Given the description of an element on the screen output the (x, y) to click on. 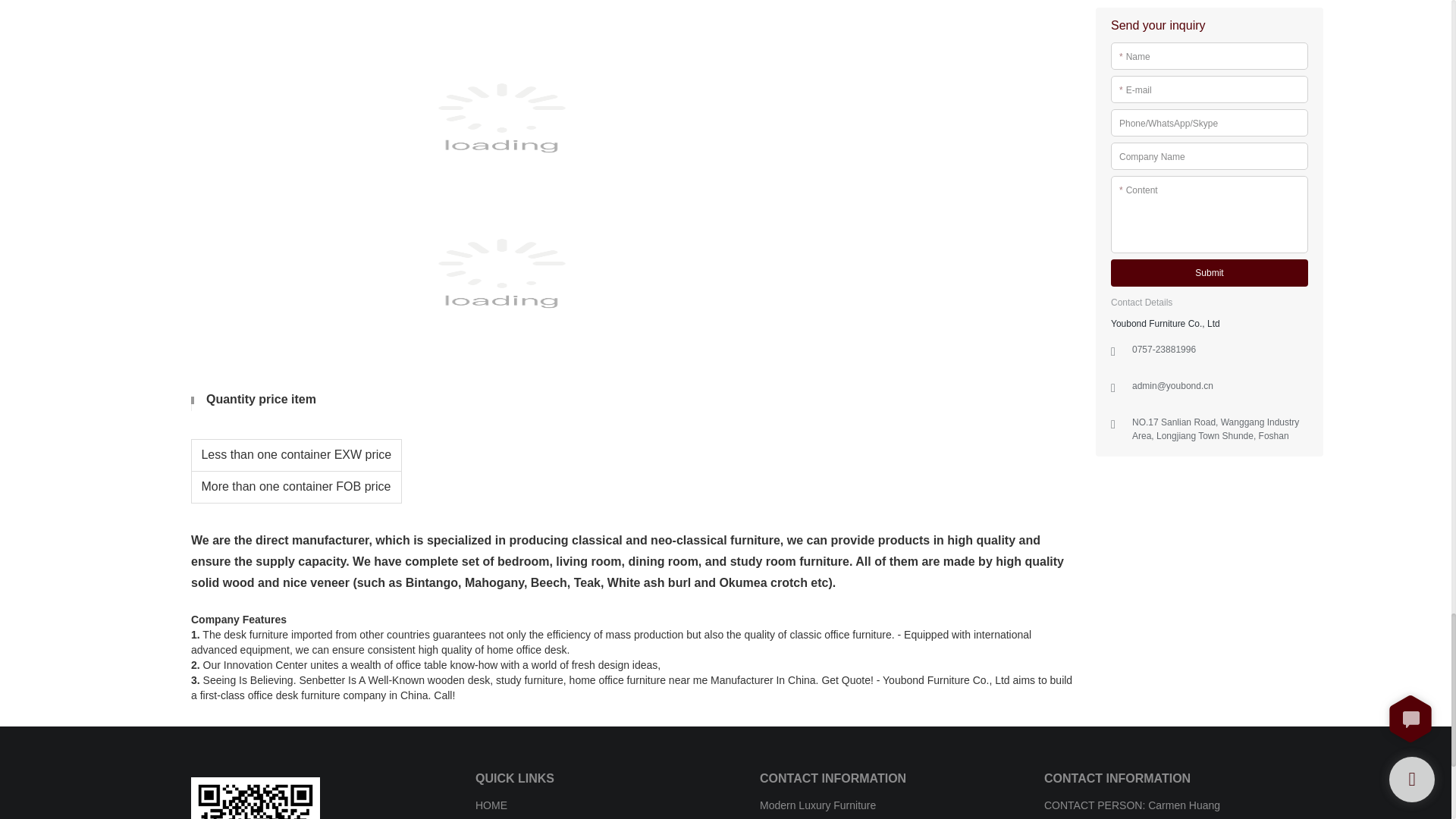
HOME (491, 805)
Modern Luxury Furniture (818, 805)
